Given the description of an element on the screen output the (x, y) to click on. 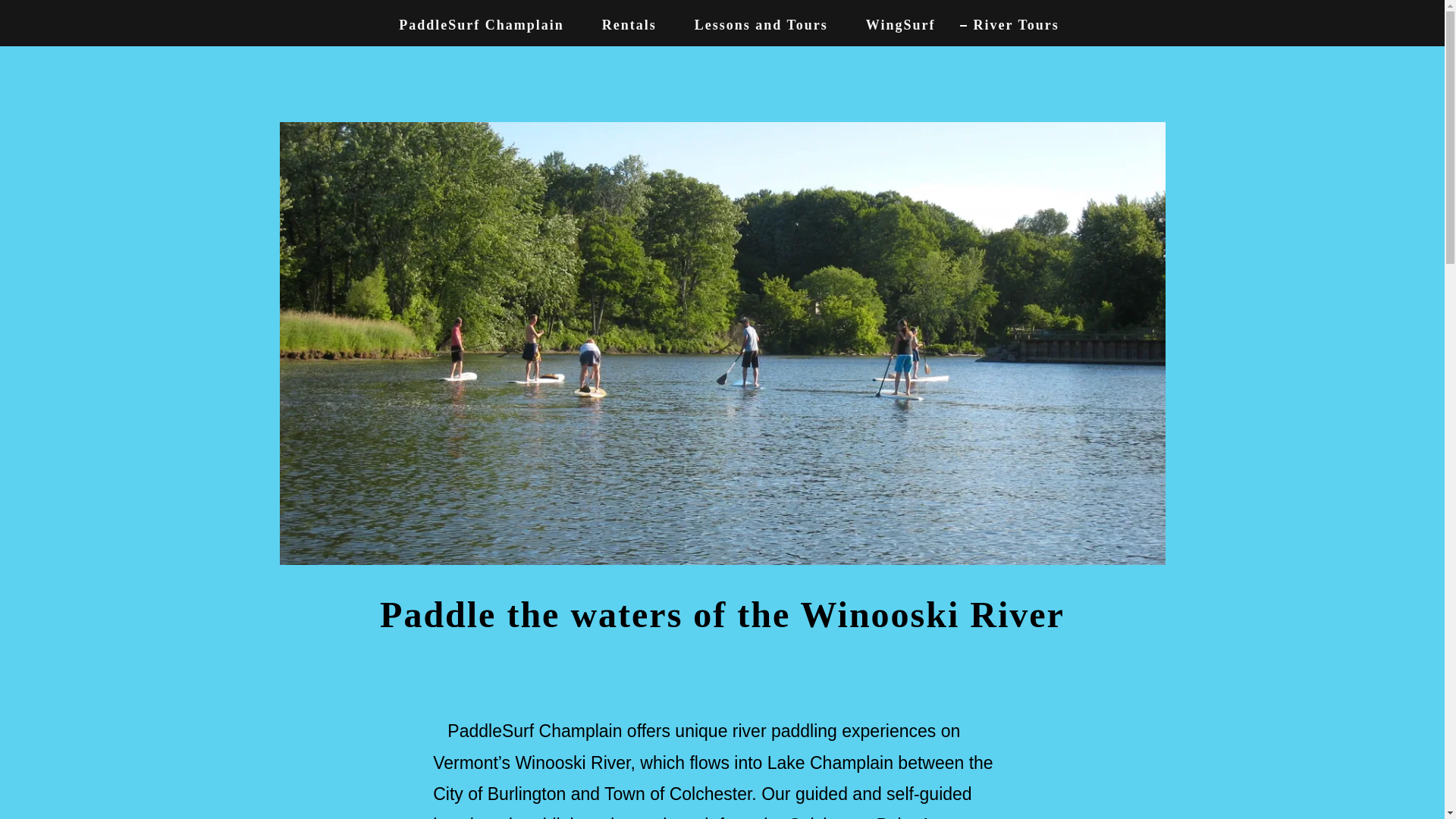
Lessons and Tours (754, 24)
WingSurf (893, 24)
PaddleSurf Champlain (474, 24)
River Tours (1009, 24)
Rentals (622, 24)
